Given the description of an element on the screen output the (x, y) to click on. 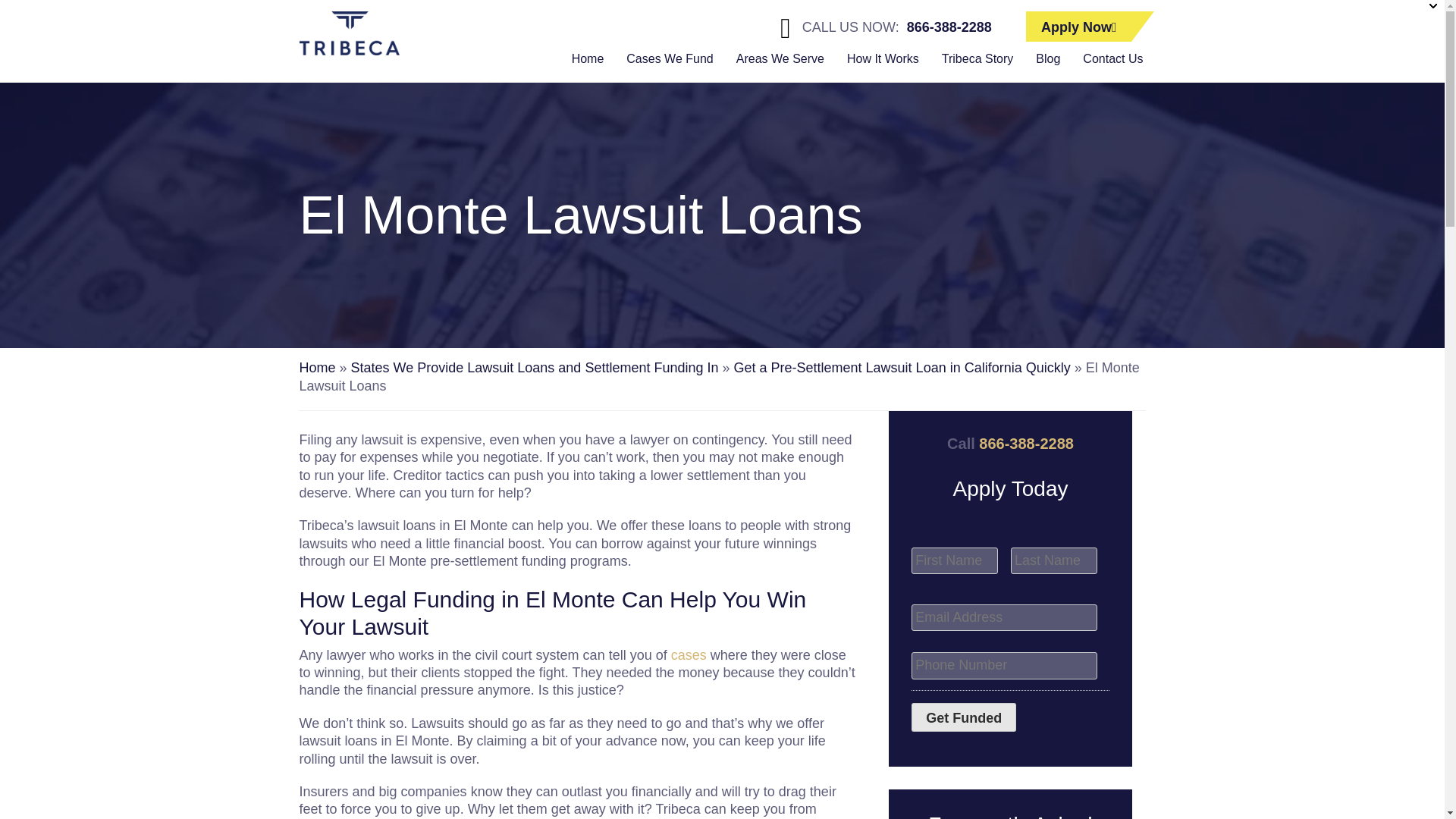
Get Funded (963, 717)
